Given the description of an element on the screen output the (x, y) to click on. 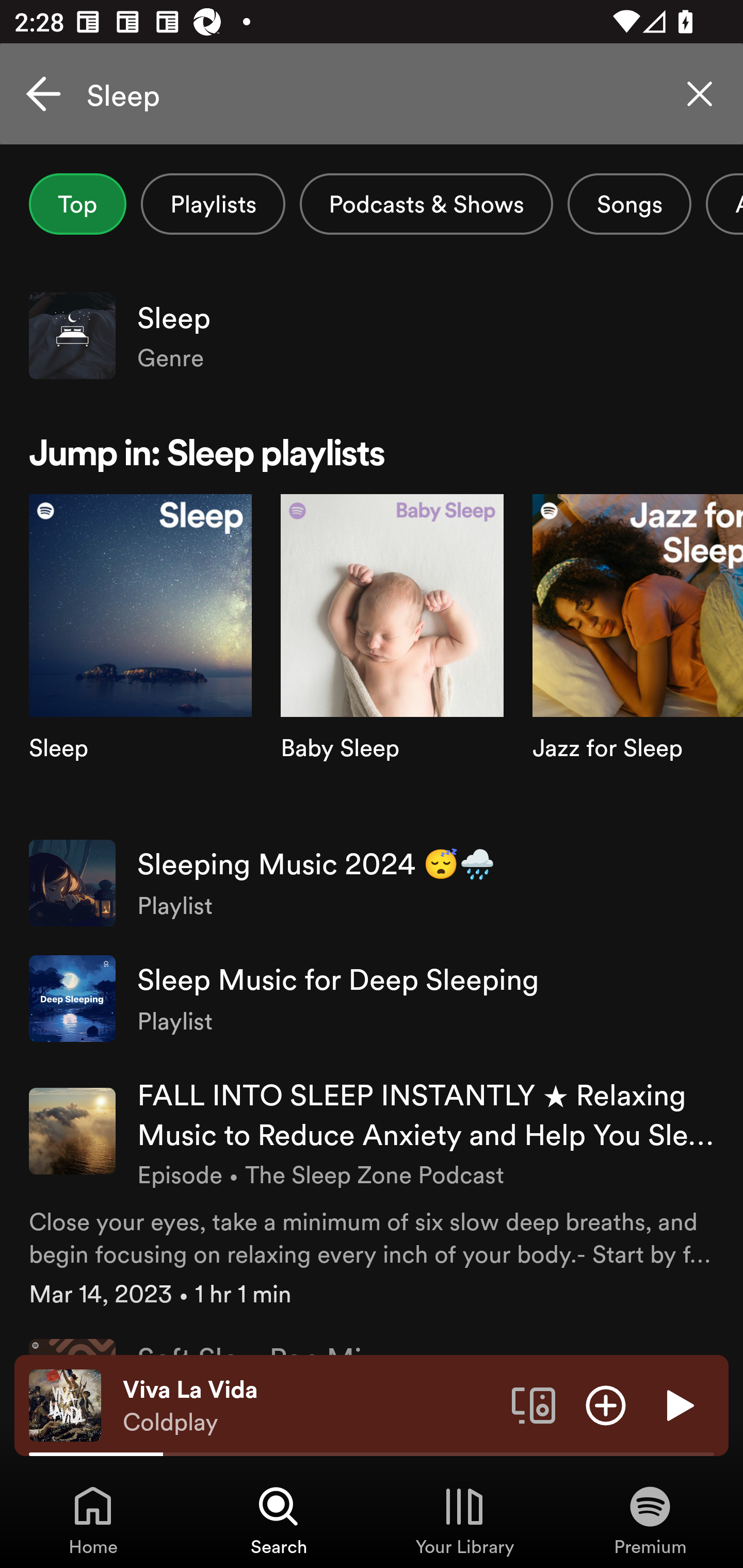
Sleep (371, 93)
Cancel (43, 93)
Clear search query (699, 93)
Top (77, 203)
Playlists (213, 203)
Podcasts & Shows (425, 203)
Songs (629, 203)
Sleep Genre (371, 335)
Search card image Sleep (139, 658)
Search card image Baby Sleep (391, 658)
Search card image Jazz for Sleep (637, 658)
Sleeping Music 2024 😴🌧️ Playlist (371, 882)
Sleep Music for Deep Sleeping Playlist (371, 998)
Viva La Vida Coldplay (309, 1405)
The cover art of the currently playing track (64, 1404)
Connect to a device. Opens the devices menu (533, 1404)
Add item (605, 1404)
Play (677, 1404)
Home, Tab 1 of 4 Home Home (92, 1519)
Search, Tab 2 of 4 Search Search (278, 1519)
Your Library, Tab 3 of 4 Your Library Your Library (464, 1519)
Premium, Tab 4 of 4 Premium Premium (650, 1519)
